Given the description of an element on the screen output the (x, y) to click on. 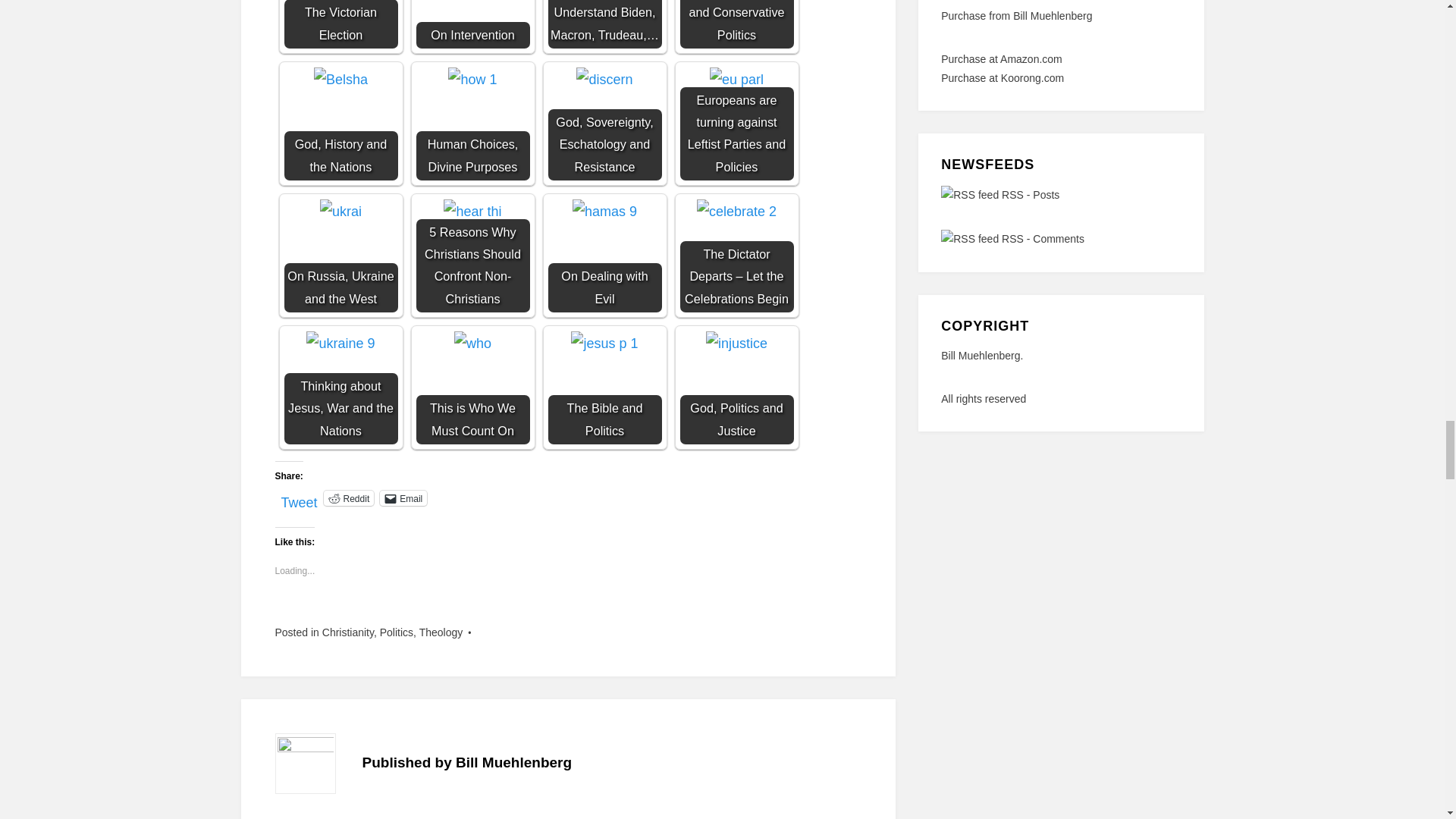
On Russia, Ukraine and the West (340, 255)
Thinking about Jesus, War and the Nations (340, 387)
Christianity (347, 632)
Reddit (348, 498)
On Russia, Ukraine and the West (340, 211)
God, History and the Nations (340, 123)
The Victorian Election (340, 24)
On Intervention (471, 24)
Email (403, 498)
On Dealing with Evil (604, 255)
God, Sovereignty, Eschatology and Resistance (603, 79)
'Some Trust In Horses': Christians and Conservative Politics (736, 24)
Europeans are turning against Leftist Parties and Policies (736, 79)
Human Choices, Divine Purposes (472, 79)
The Bible and Politics (604, 387)
